Given the description of an element on the screen output the (x, y) to click on. 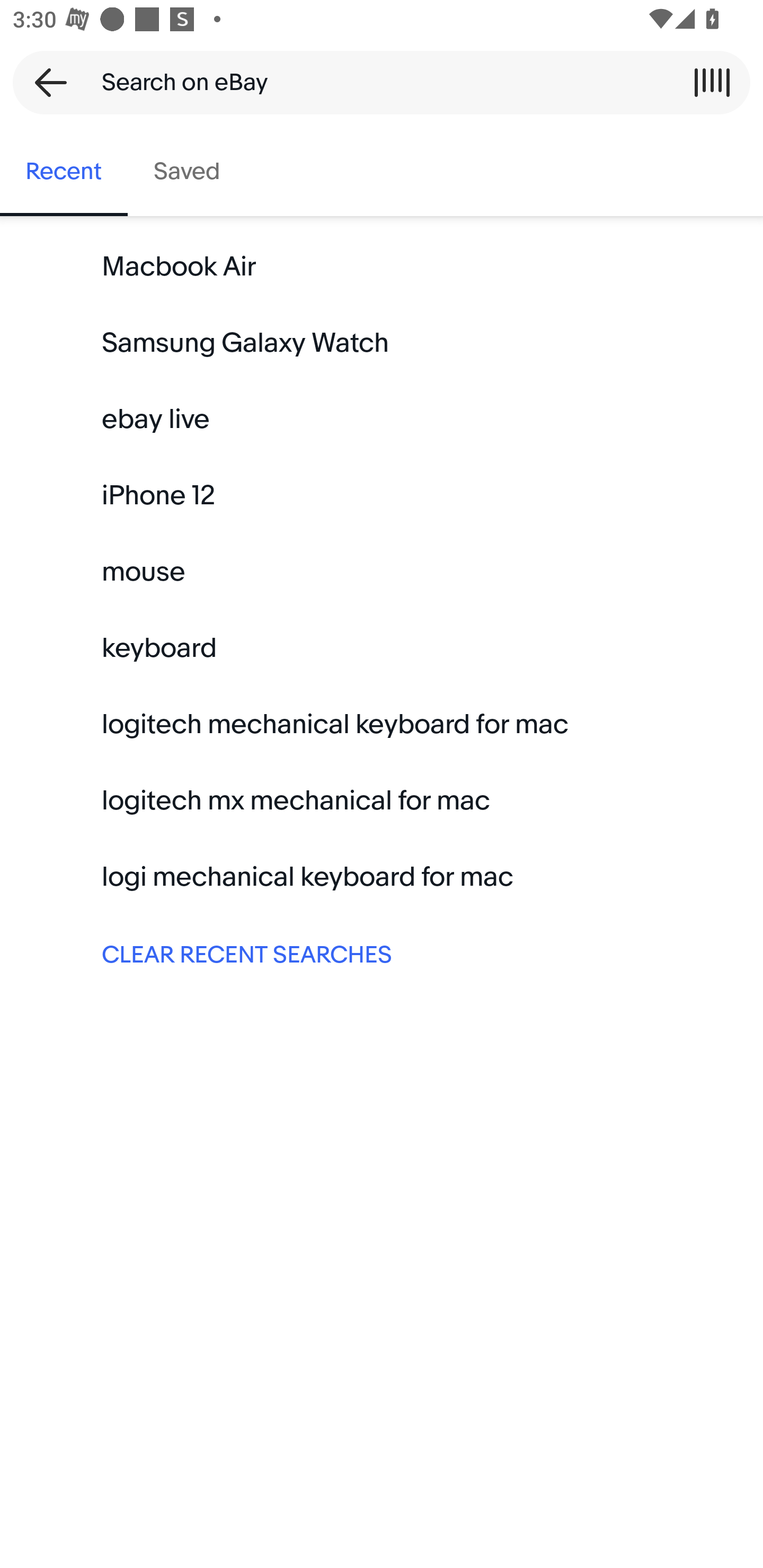
Back (44, 82)
Scan a barcode (711, 82)
Search on eBay (375, 82)
Saved, tab 2 of 2 Saved (186, 171)
Macbook Air Keyword search Macbook Air: (381, 266)
ebay live Keyword search ebay live: (381, 419)
iPhone 12 Keyword search iPhone 12: (381, 495)
mouse Keyword search mouse: (381, 571)
keyboard Keyword search keyboard: (381, 647)
CLEAR RECENT SEARCHES (381, 952)
